Given the description of an element on the screen output the (x, y) to click on. 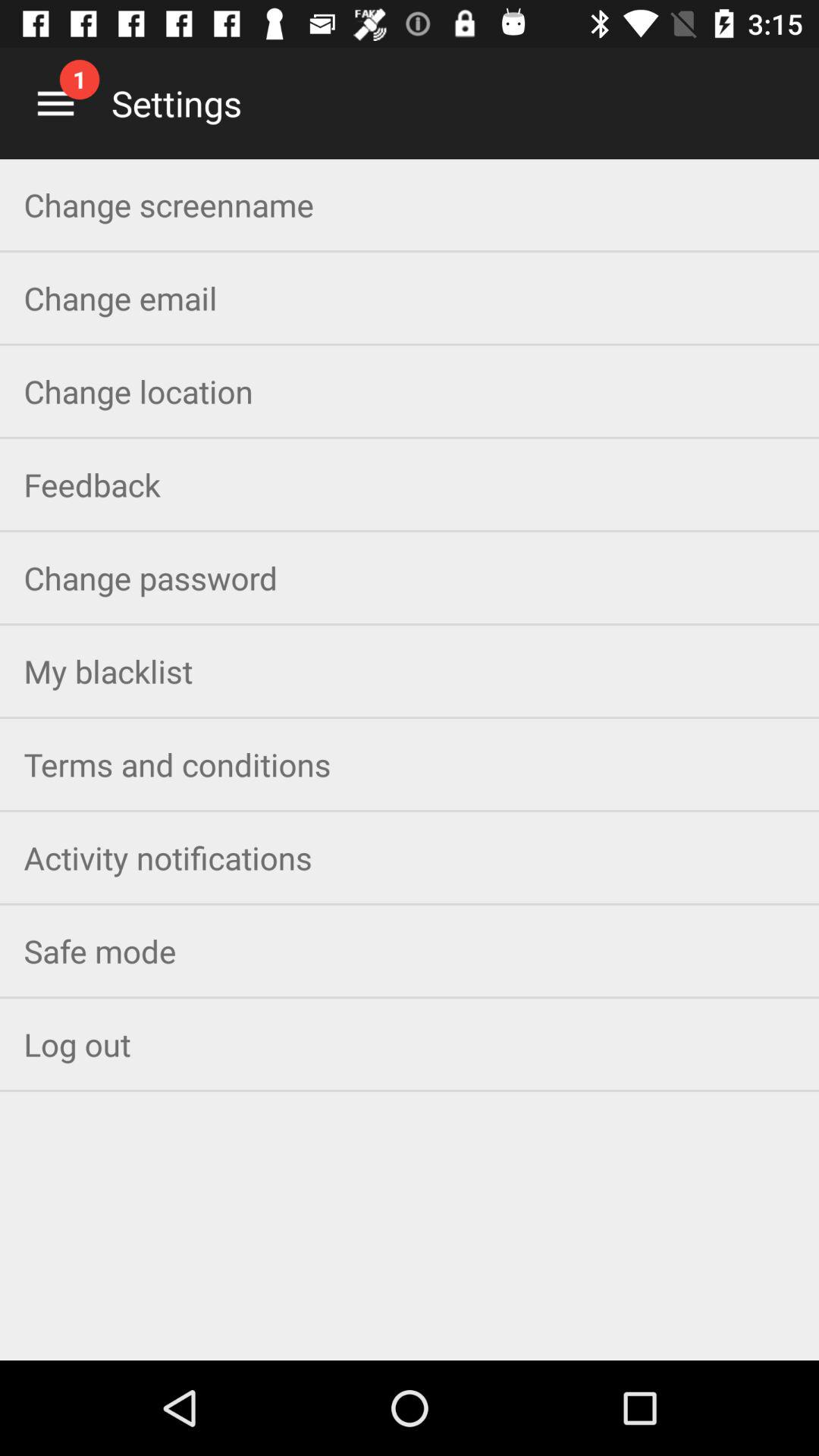
toggle main menu (55, 103)
